Given the description of an element on the screen output the (x, y) to click on. 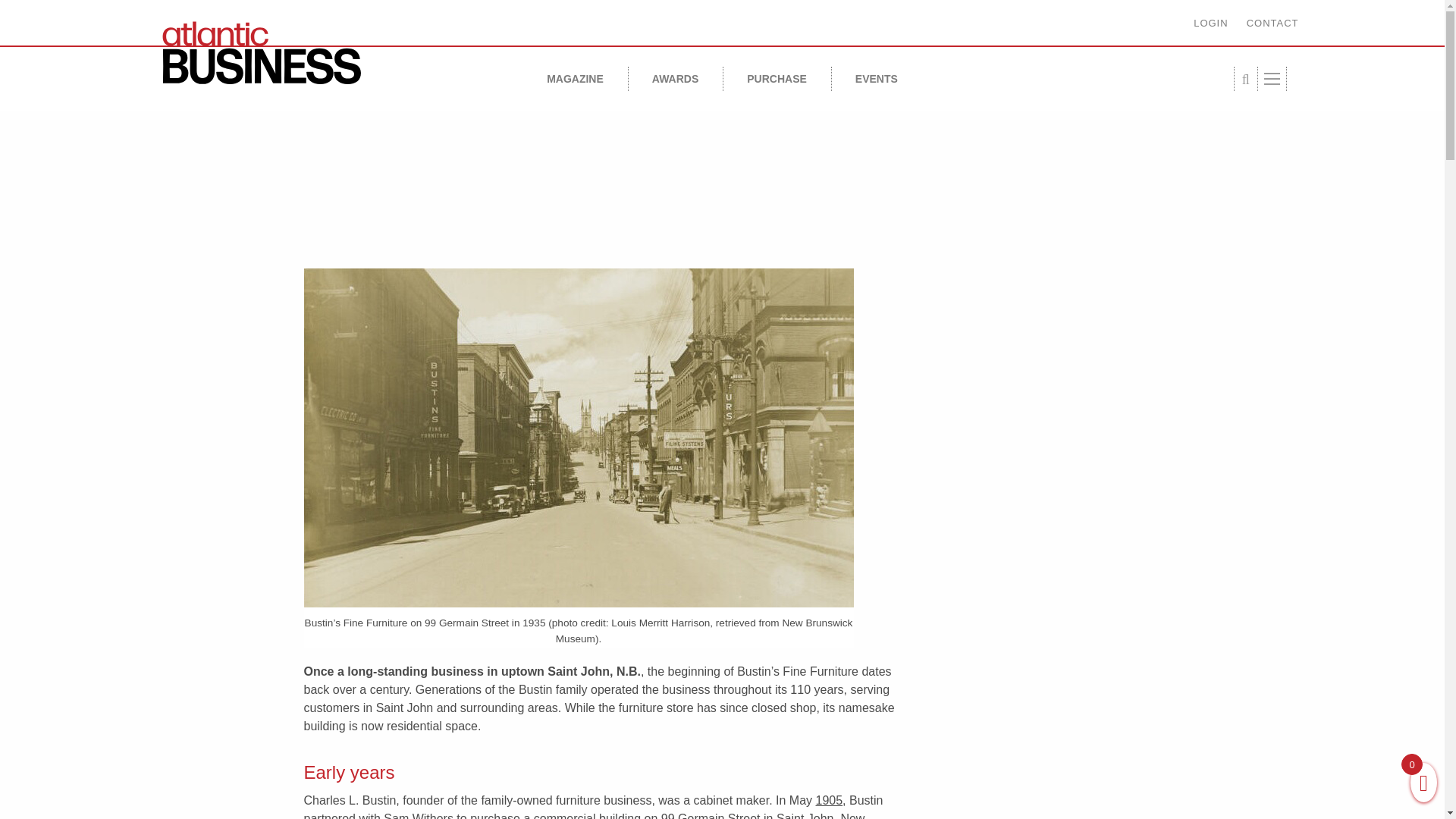
LOGIN (1210, 22)
MAGAZINE (575, 78)
Atlantic Business Magazine (289, 52)
CONTACT (1272, 22)
PURCHASE (776, 78)
